Given the description of an element on the screen output the (x, y) to click on. 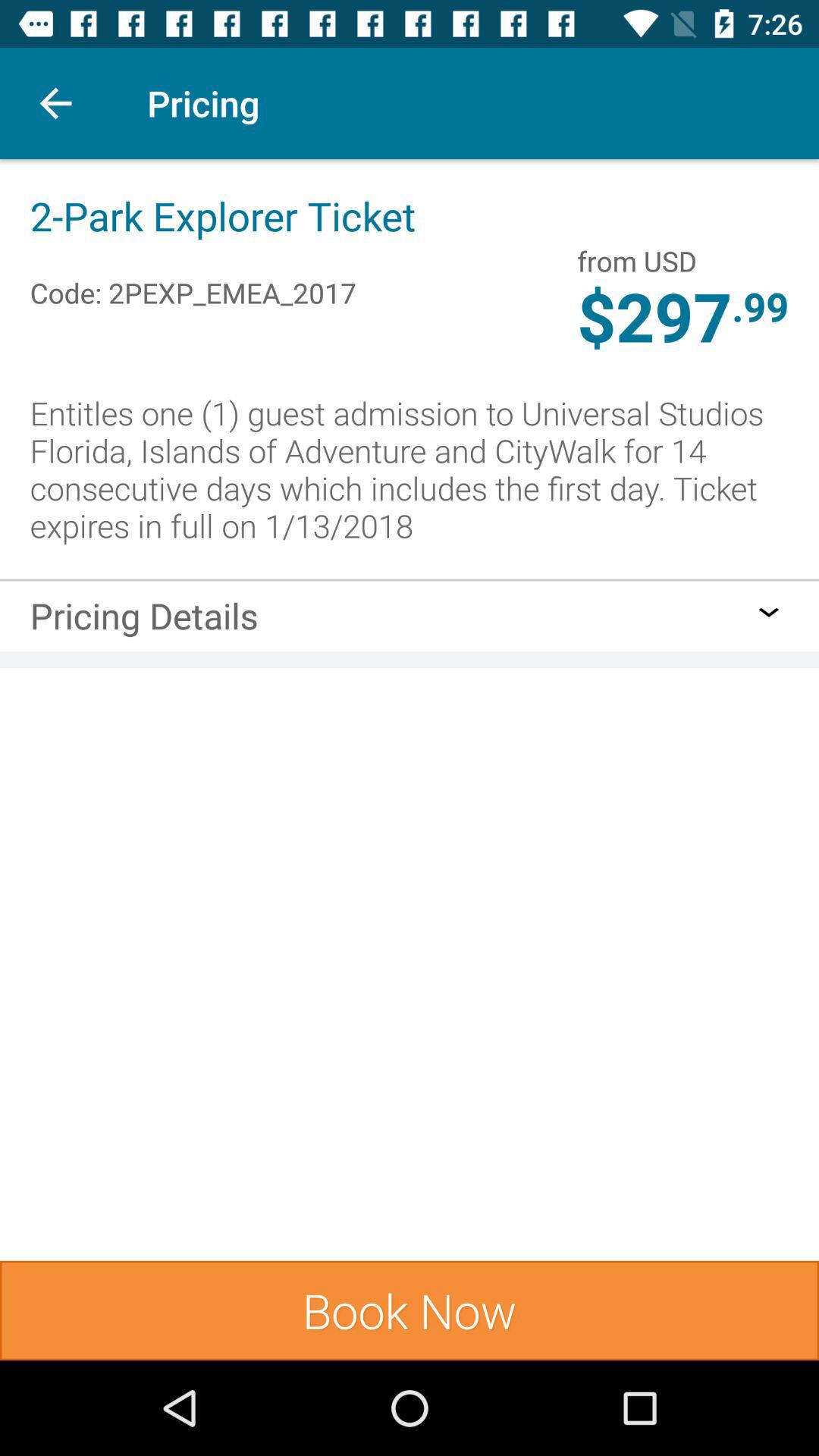
select the item below the entitles one 1 item (409, 579)
